Given the description of an element on the screen output the (x, y) to click on. 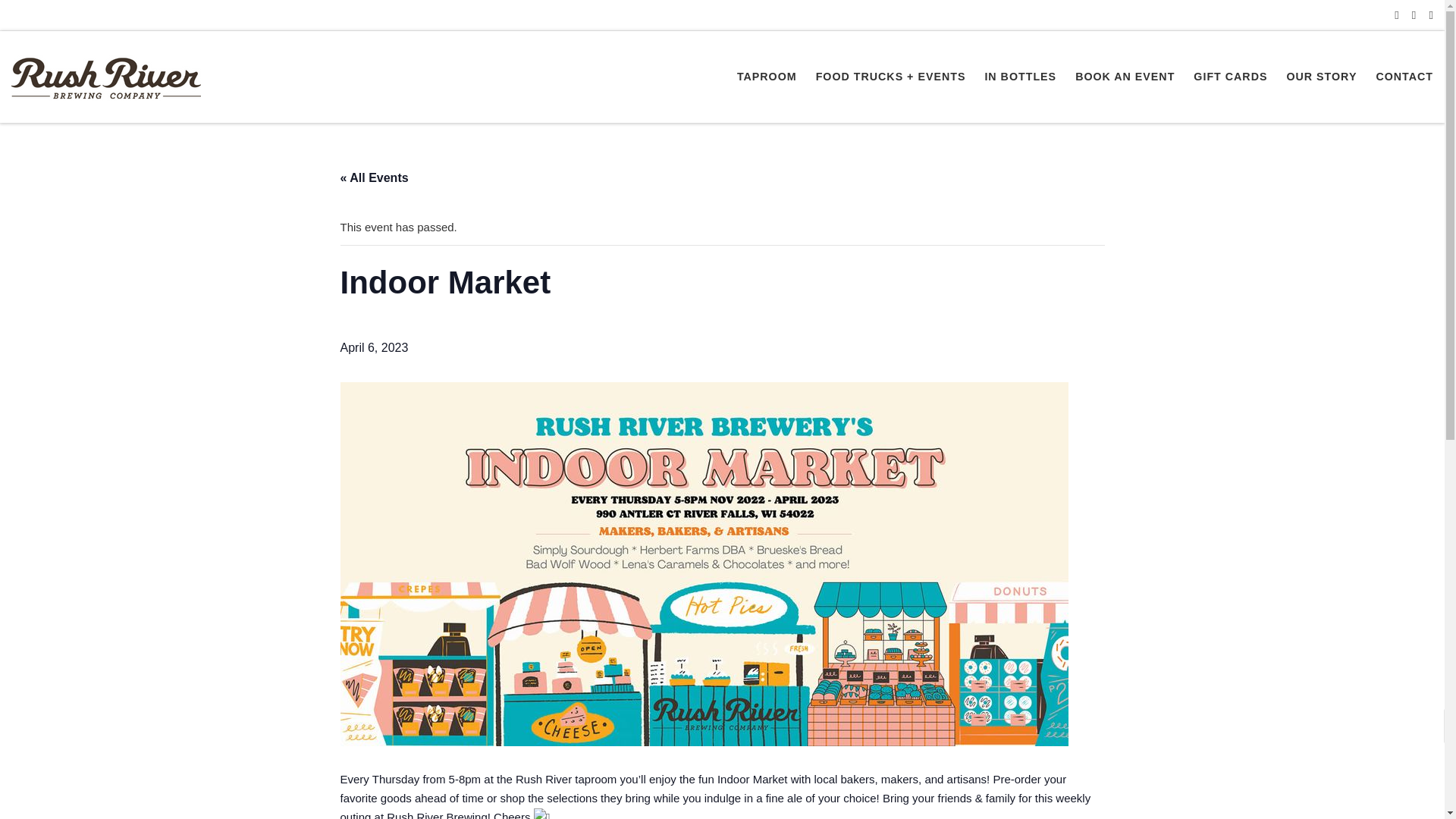
BOOK AN EVENT (1124, 76)
GIFT CARDS (1230, 76)
IN BOTTLES (1020, 76)
CONTACT (1404, 76)
TAPROOM (767, 76)
Skip to content (60, 20)
OUR STORY (1321, 76)
